Given the description of an element on the screen output the (x, y) to click on. 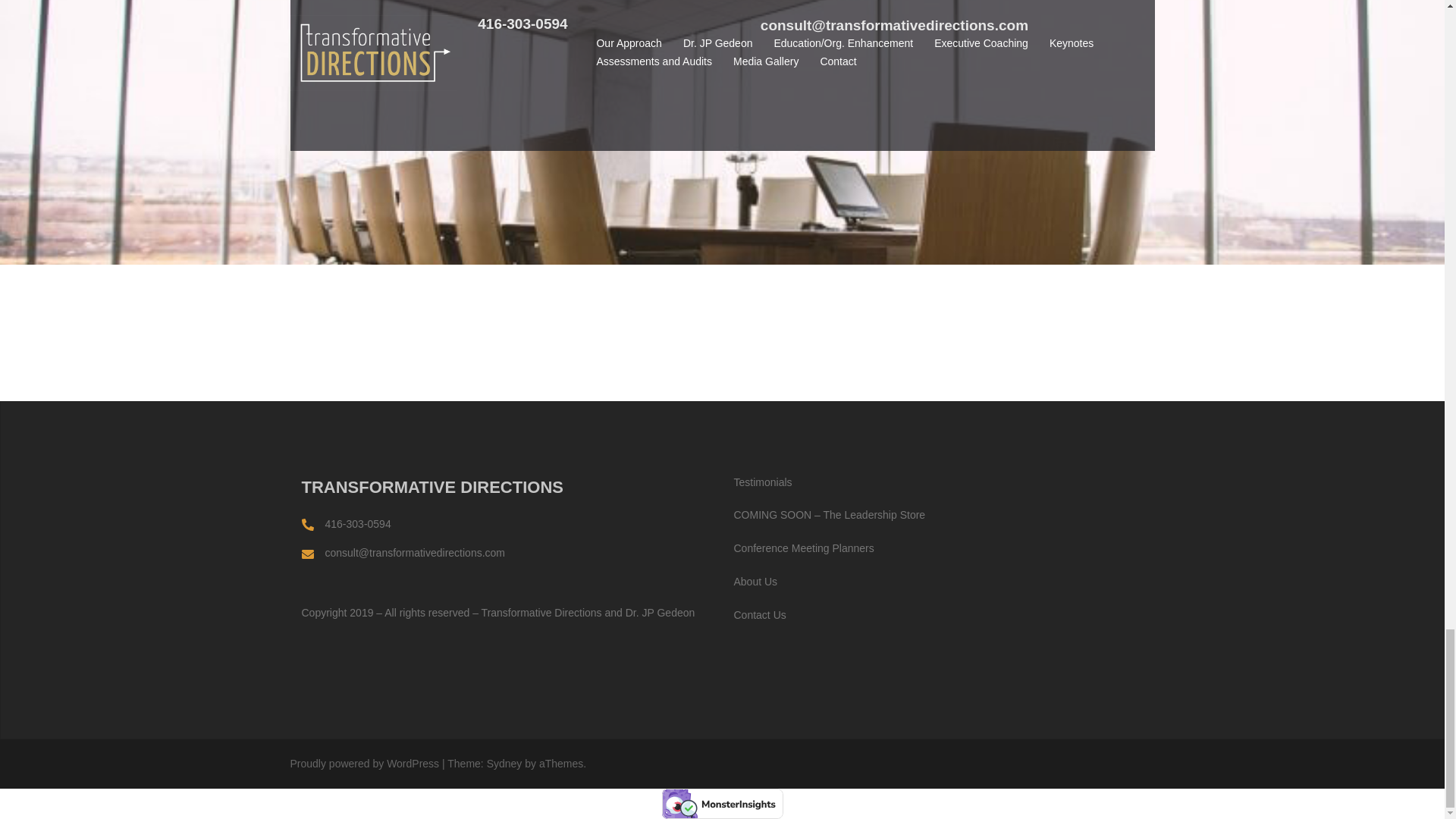
About Us (755, 581)
Sydney (504, 763)
Testimonials (762, 481)
Contact Us (759, 614)
Conference Meeting Planners (804, 548)
Proudly powered by WordPress (364, 763)
